Given the description of an element on the screen output the (x, y) to click on. 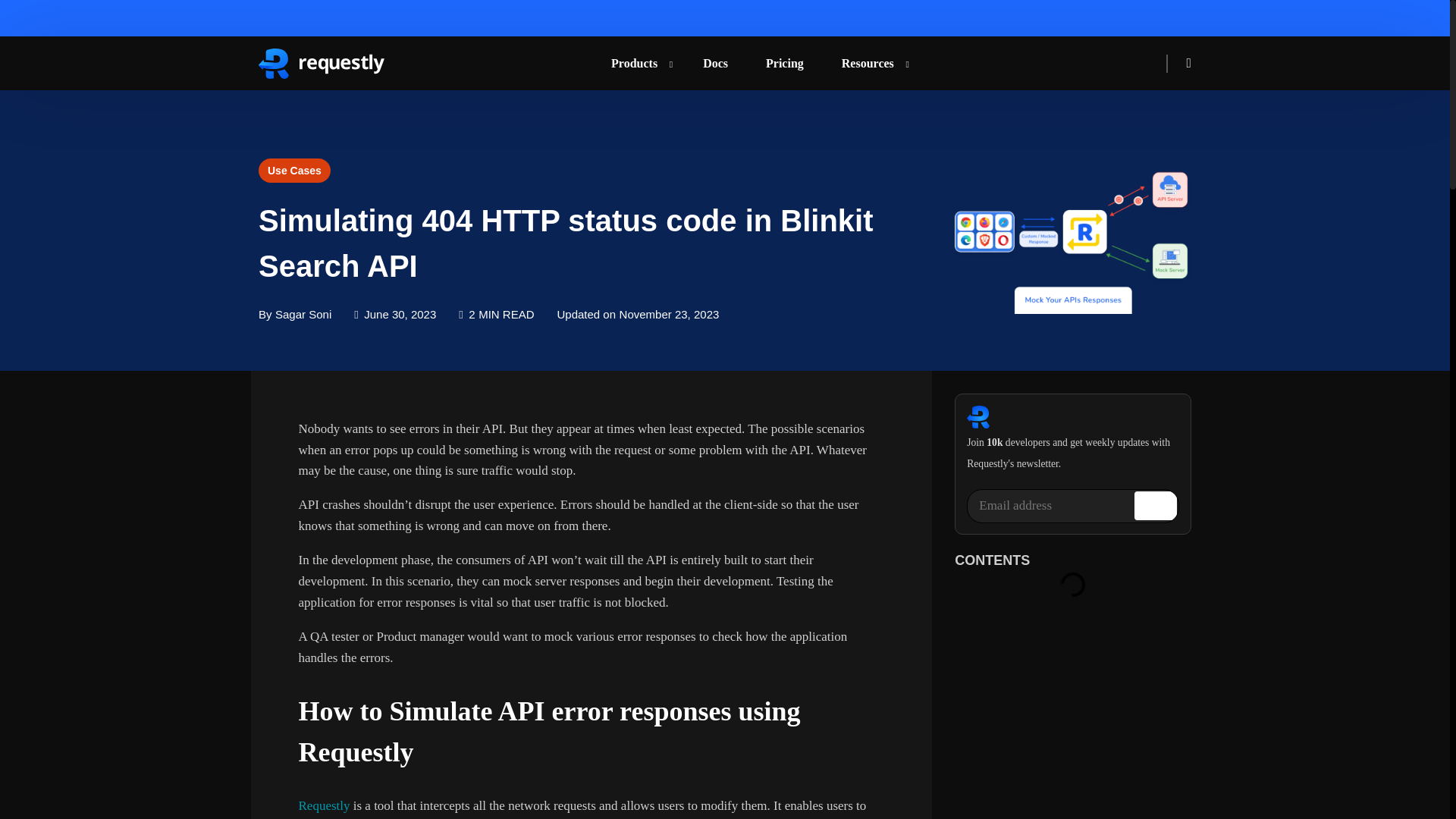
Requestly (324, 805)
Docs (715, 63)
Products (638, 63)
Use Cases (294, 170)
Resources (871, 63)
Pricing (784, 63)
Sagar Soni (303, 314)
